Given the description of an element on the screen output the (x, y) to click on. 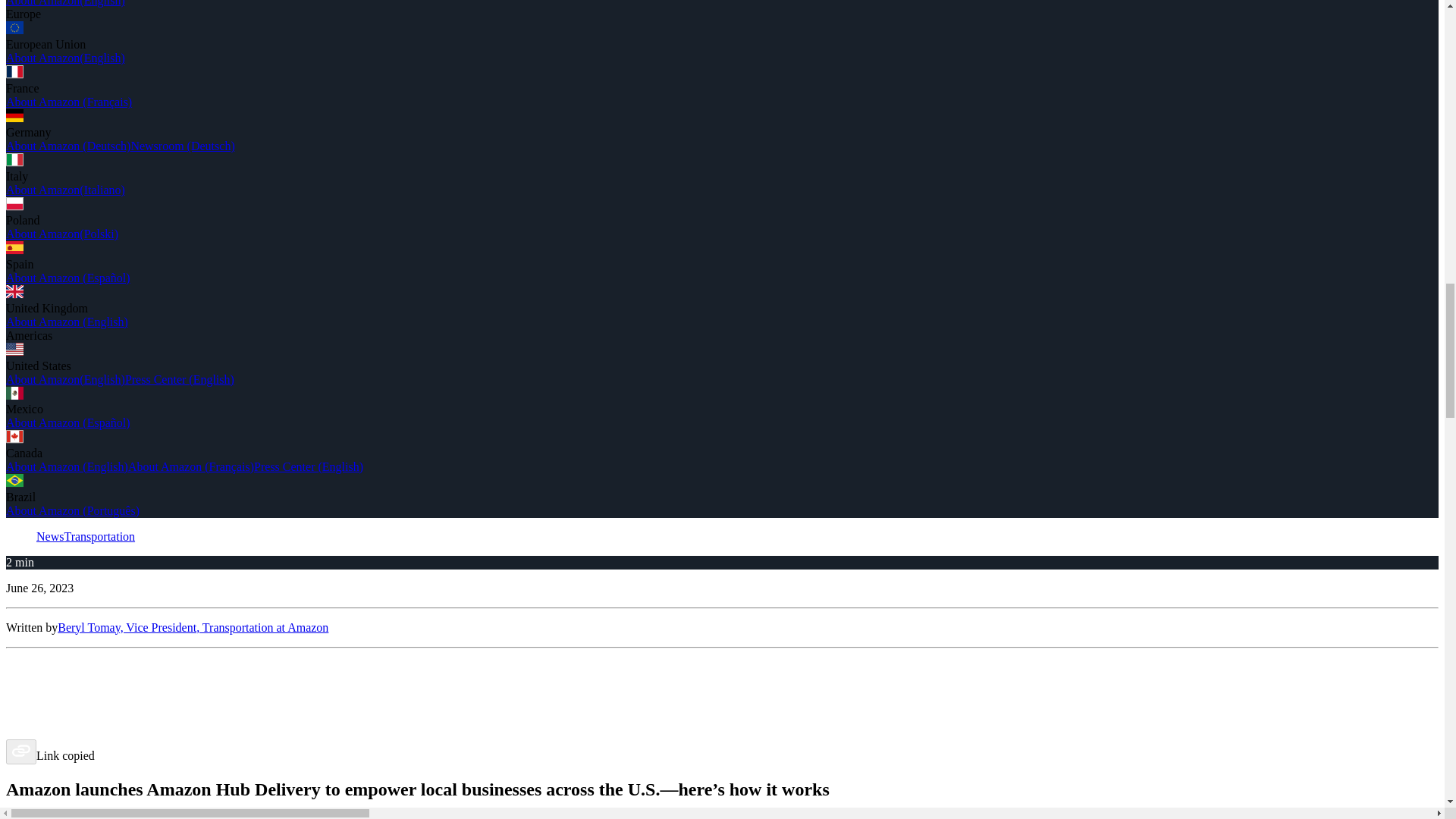
Facebook Share (721, 664)
LinkedIn Share (721, 707)
copy link (20, 751)
Twitter Share (721, 685)
email (721, 728)
